Given the description of an element on the screen output the (x, y) to click on. 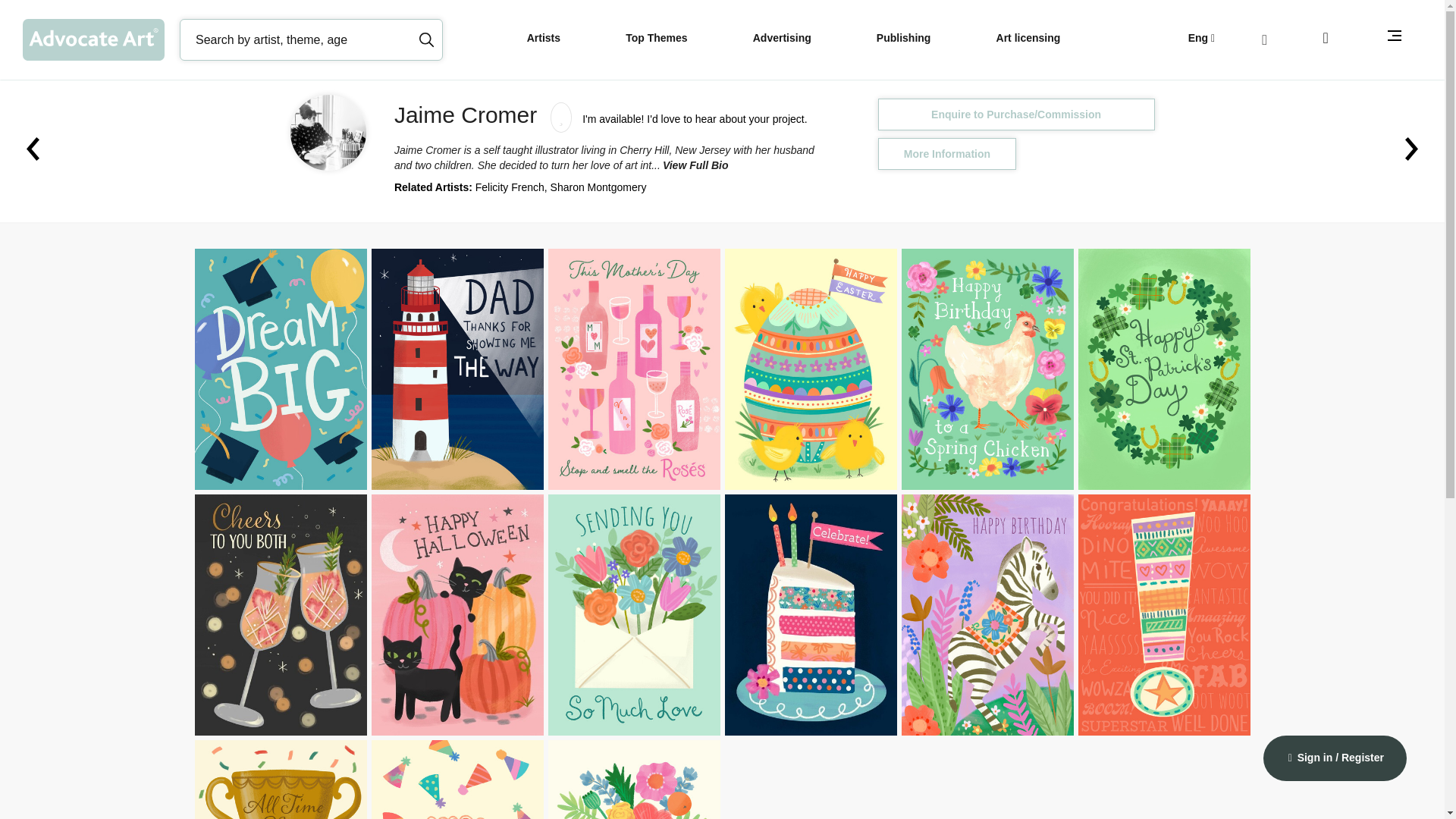
Top Themes (656, 38)
Click Favourite Artist (557, 114)
Publishing (905, 38)
Art licensing (1029, 38)
Advertising (784, 38)
